Given the description of an element on the screen output the (x, y) to click on. 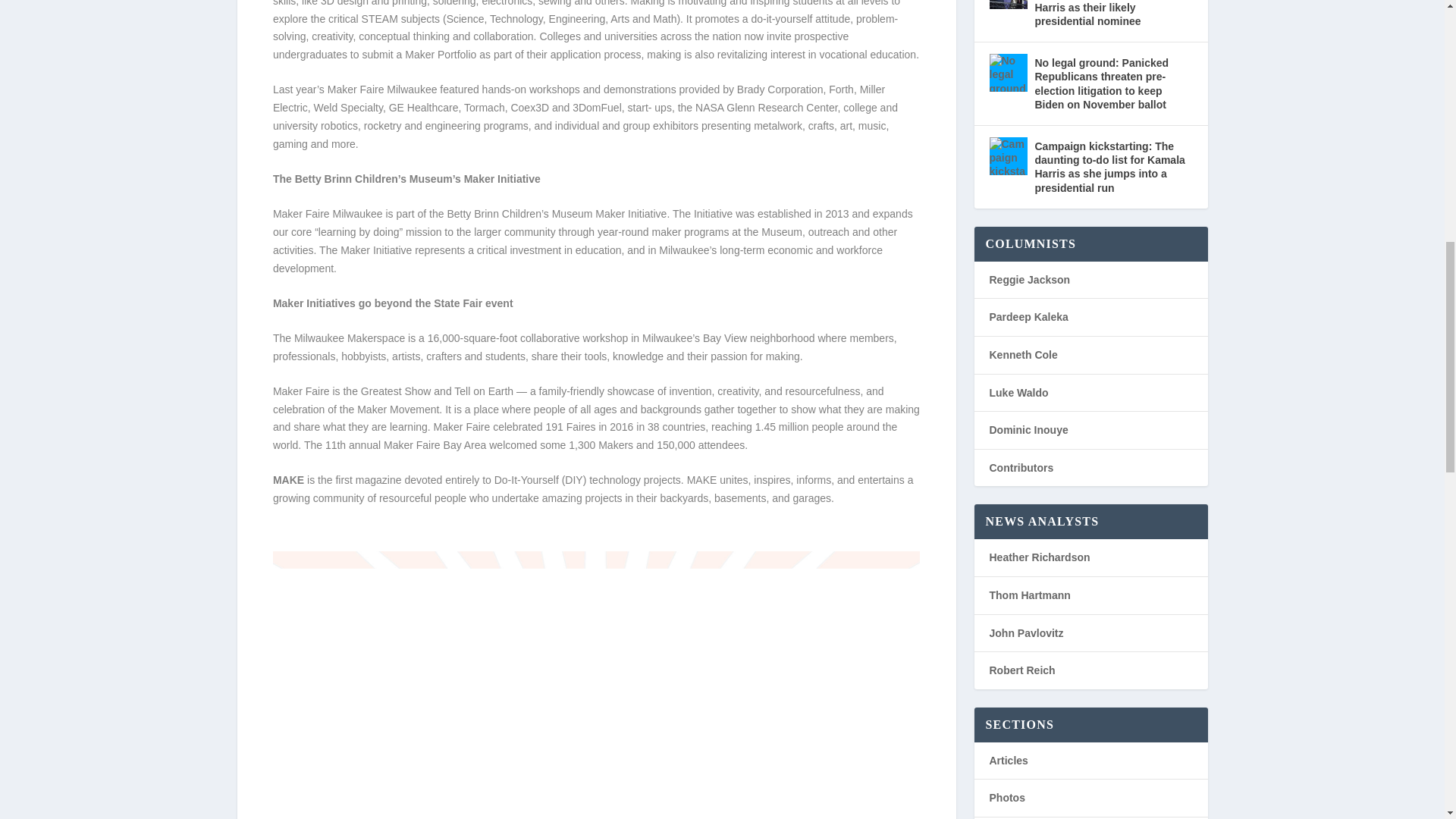
MAKE (288, 480)
